Given the description of an element on the screen output the (x, y) to click on. 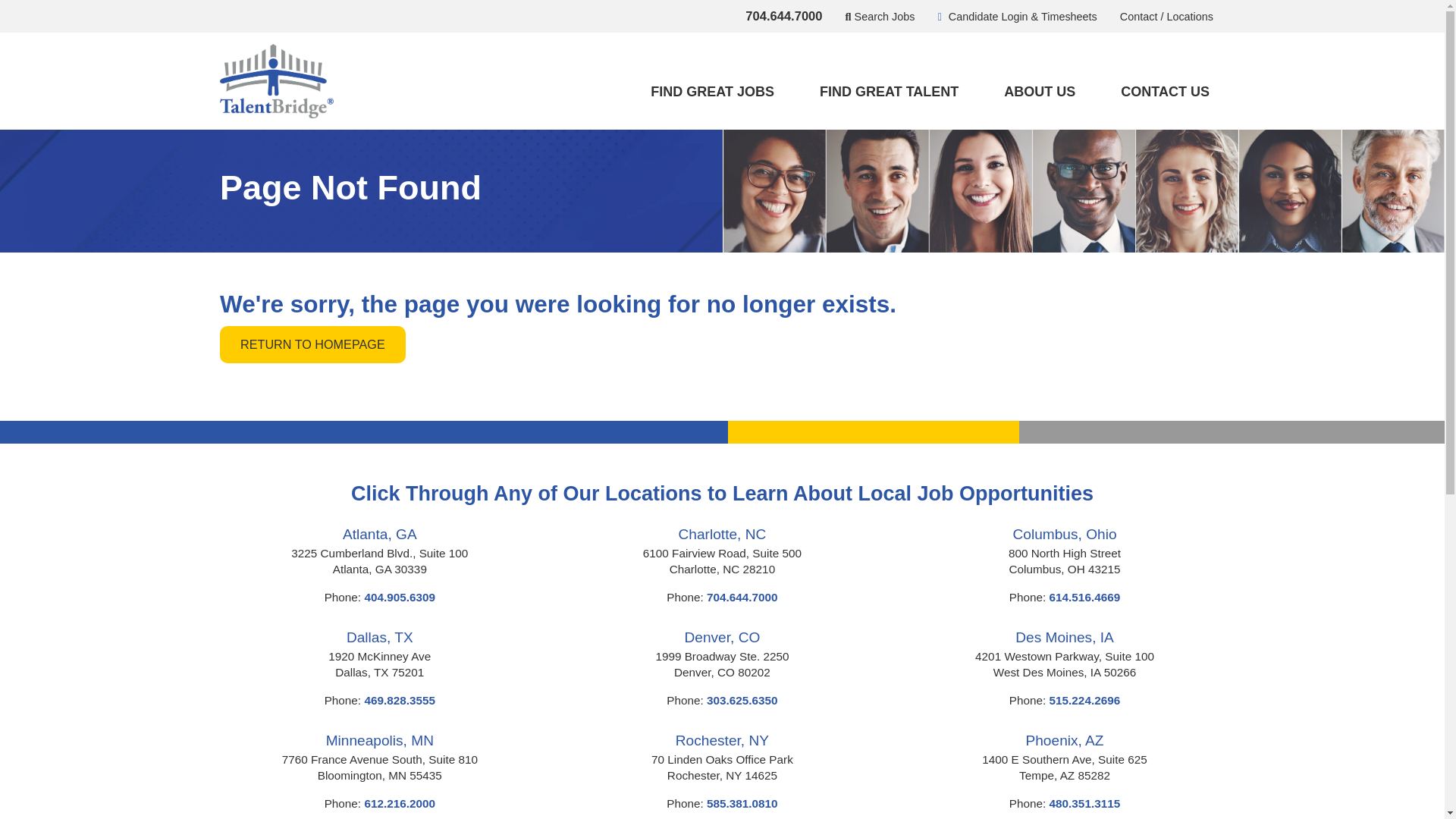
CONTACT US (1164, 91)
Atlanta, GA (379, 534)
515.224.2696 (1085, 699)
704.644.7000 (741, 596)
612.216.2000 (399, 802)
Charlotte, NC (722, 534)
704.644.7000 (782, 16)
FIND GREAT JOBS (711, 91)
ABOUT US (1039, 91)
Dallas, TX (379, 637)
Search Jobs (880, 16)
RETURN TO HOMEPAGE (312, 343)
469.828.3555 (399, 699)
FIND GREAT TALENT (888, 91)
Des Moines, IA (1063, 637)
